Given the description of an element on the screen output the (x, y) to click on. 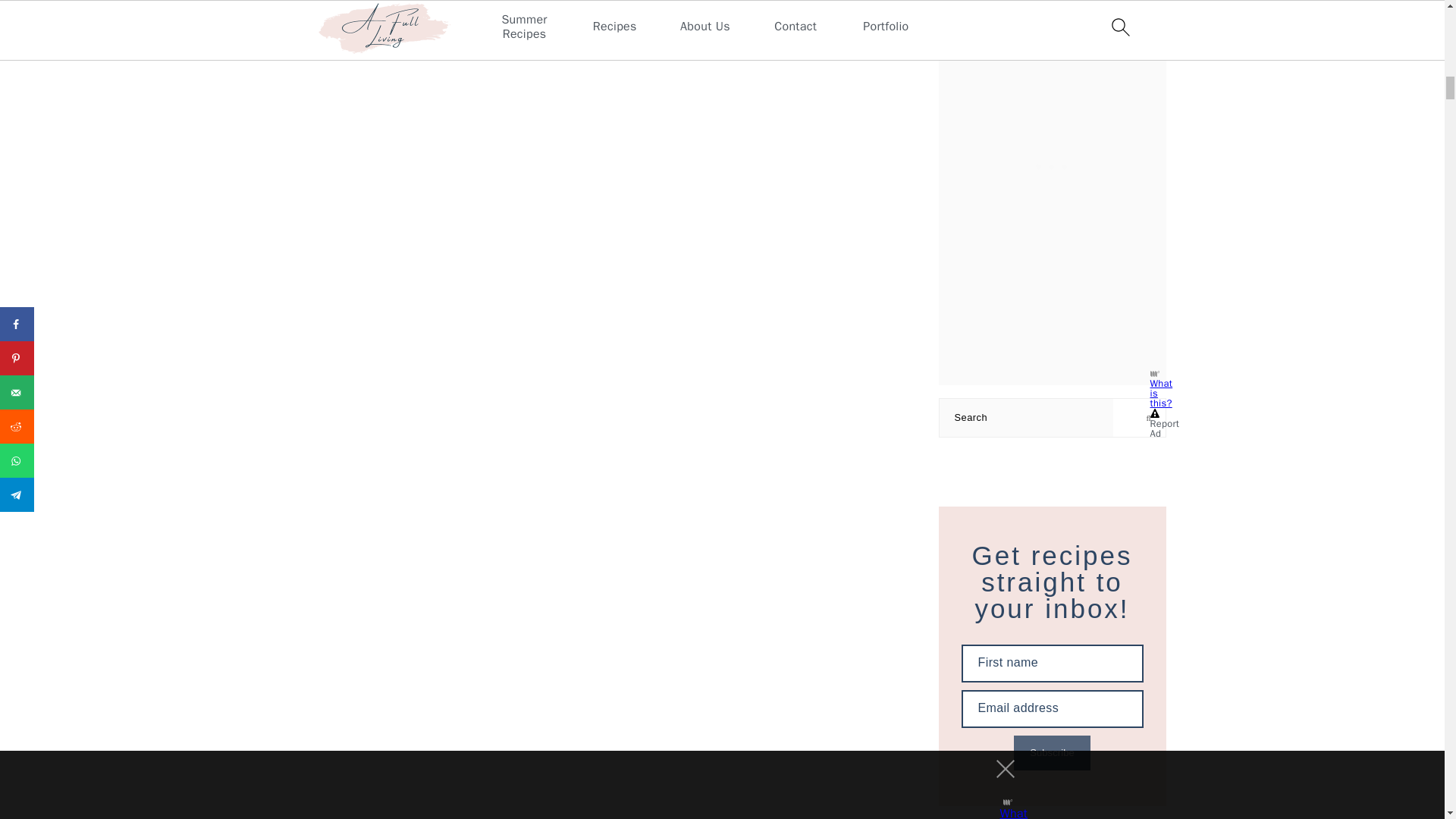
3rd party ad content (1052, 59)
